Given the description of an element on the screen output the (x, y) to click on. 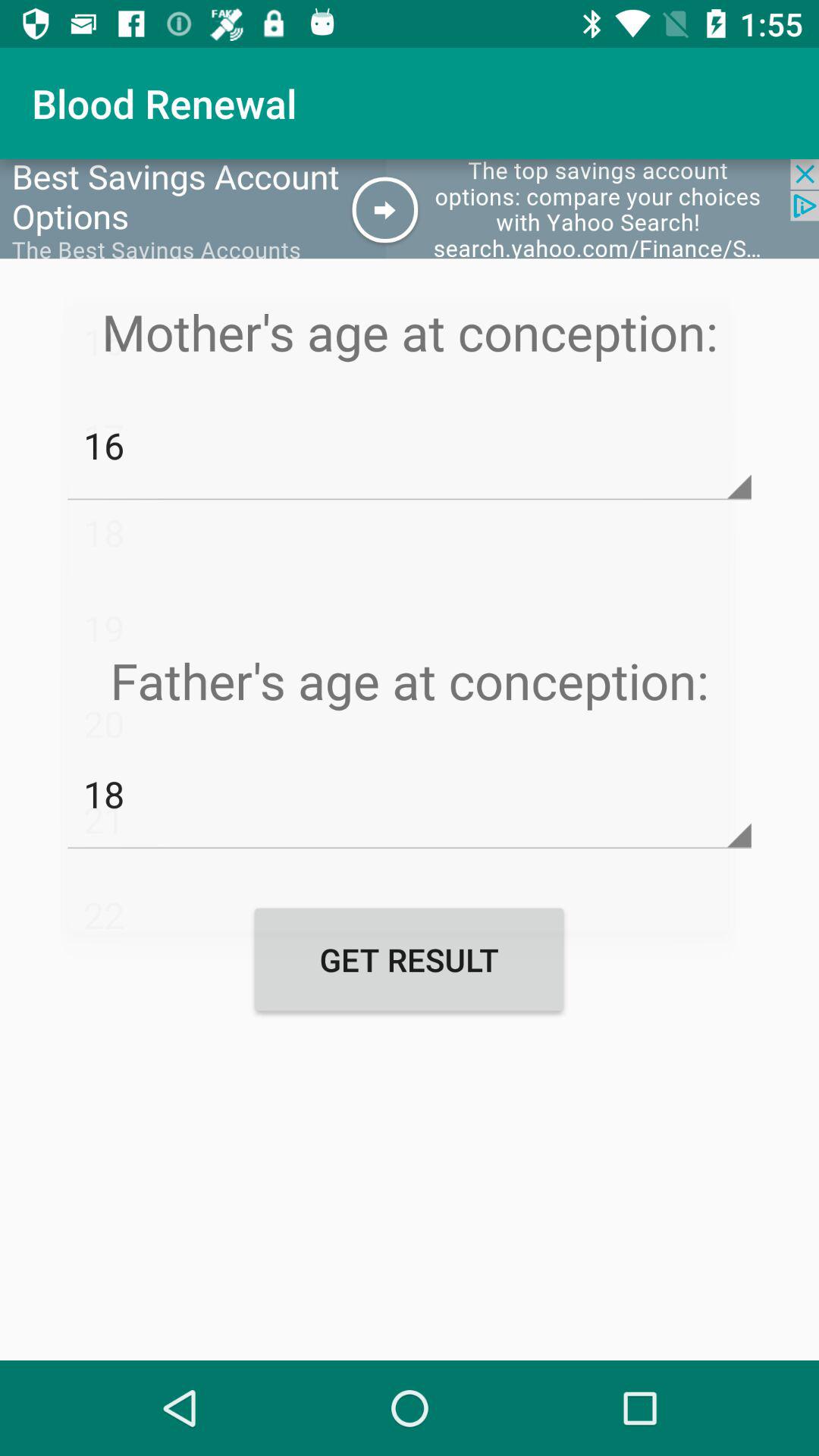
press the get result item (408, 959)
